Given the description of an element on the screen output the (x, y) to click on. 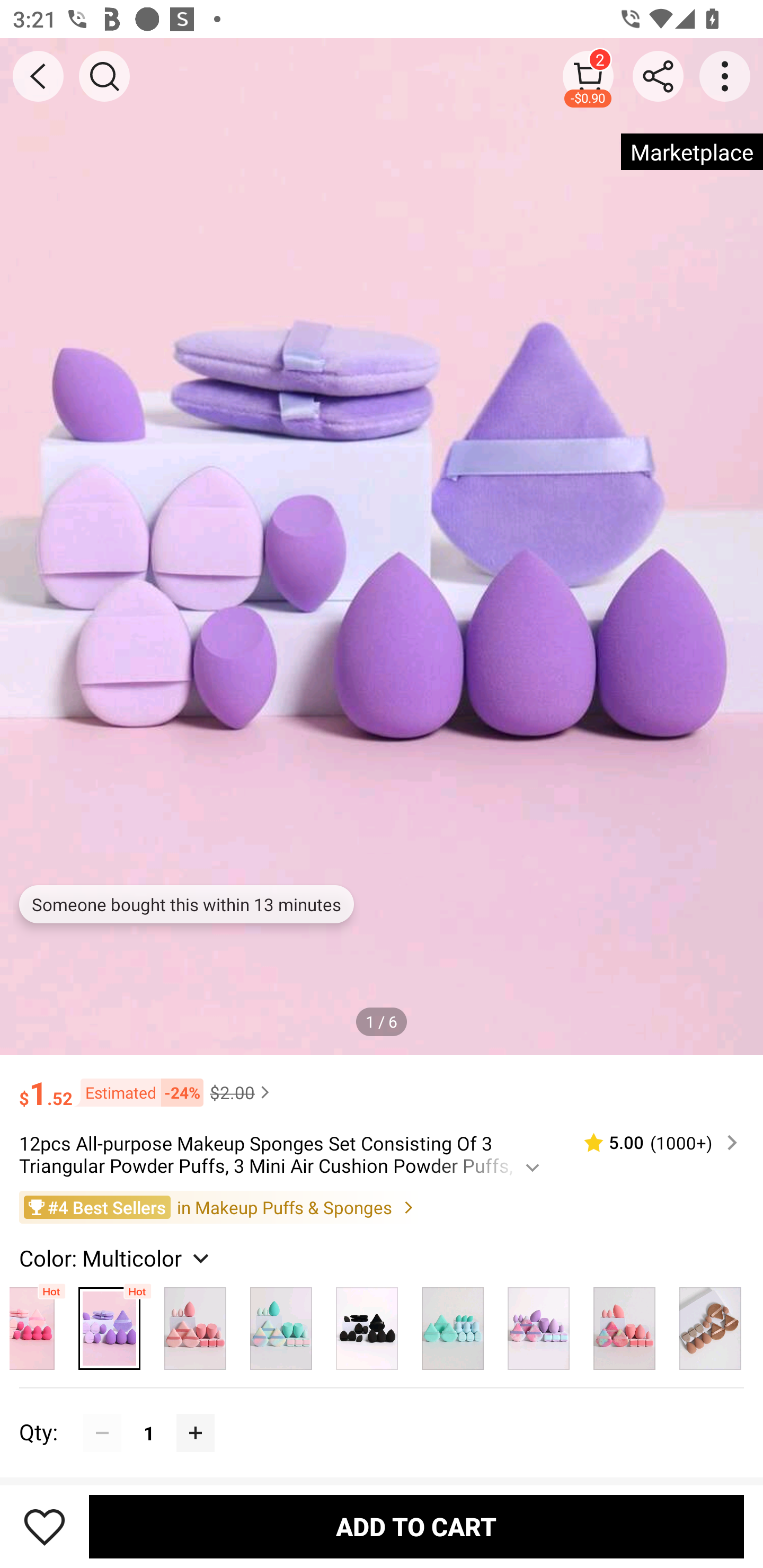
BACK (38, 75)
2 -$0.90 (588, 75)
1 / 6 (381, 1021)
$1.52 Estimated -24% $2.00 (381, 1084)
Estimated -24% (137, 1092)
$2.00 (241, 1091)
5.00 (1000‎+) (653, 1142)
#4 Best Sellers in Makeup Puffs & Sponges (381, 1206)
Color: Multicolor (116, 1258)
Multicolor (38, 1324)
Multicolor (109, 1324)
Multicolor (195, 1324)
Multicolor (281, 1324)
Multicolor (367, 1324)
Multicolor (452, 1324)
Multicolor (538, 1324)
Multicolor (624, 1324)
Multicolor (710, 1324)
Qty: 1 (381, 1413)
ADD TO CART (416, 1526)
Save (44, 1526)
